Given the description of an element on the screen output the (x, y) to click on. 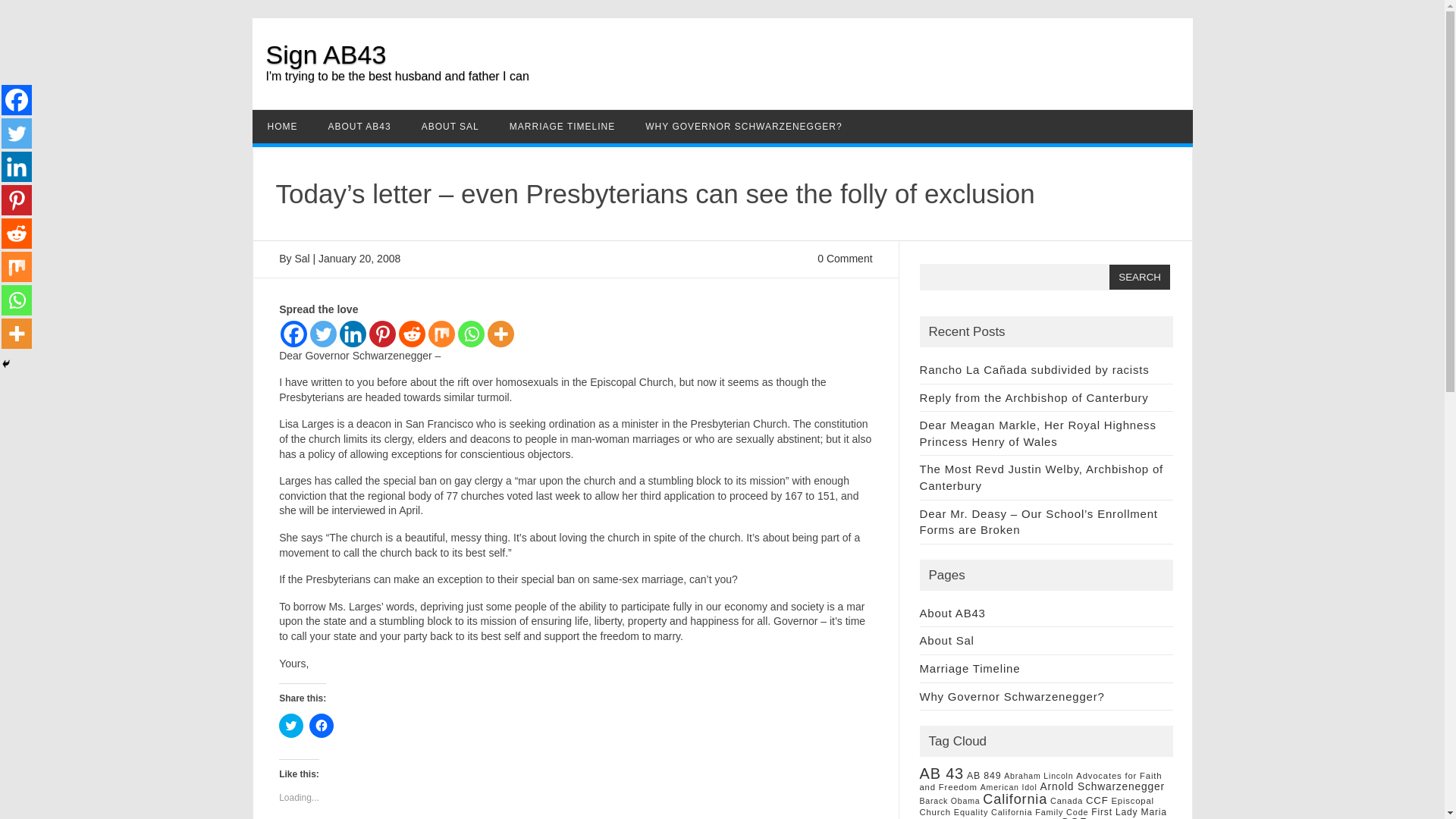
ABOUT SAL (450, 126)
Click to share on Facebook (320, 725)
Whatsapp (471, 334)
ABOUT AB43 (359, 126)
More (500, 334)
Sign AB43 (324, 54)
Linkedin (352, 334)
HOME (282, 126)
Pinterest (382, 334)
Reddit (411, 334)
